Given the description of an element on the screen output the (x, y) to click on. 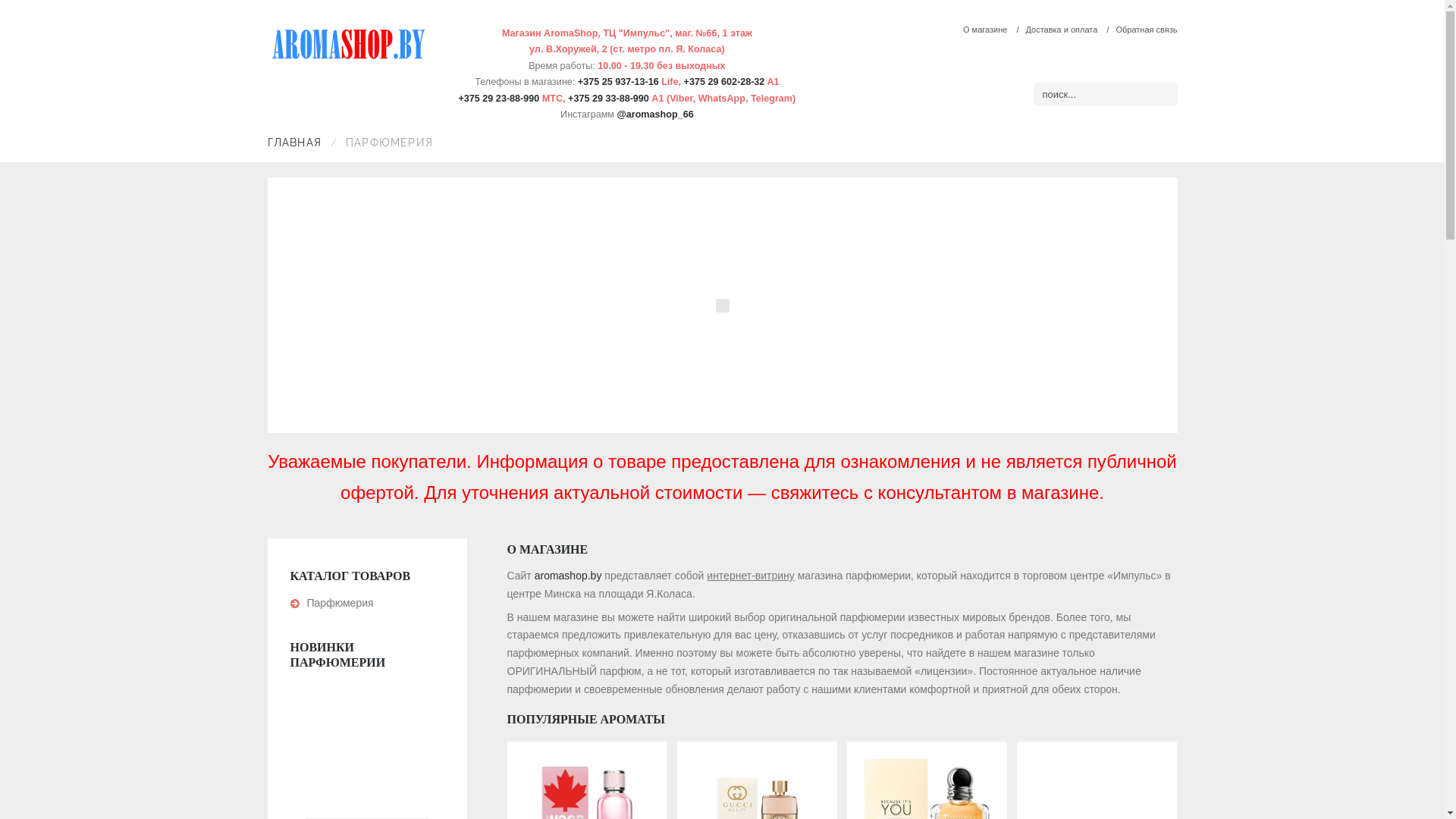
Cacharel Yes I Am Element type: hover (722, 305)
CACHAREL YES I AM Element type: text (721, 435)
+375 29 23-88-990 Element type: text (498, 98)
+375 29 602-28-32 Element type: text (724, 81)
@aromashop_66 Element type: text (654, 114)
aromashop.by Element type: text (568, 575)
+375 29 33-88-990 Element type: text (608, 98)
+375 25 937-13-16 Element type: text (617, 81)
